Given the description of an element on the screen output the (x, y) to click on. 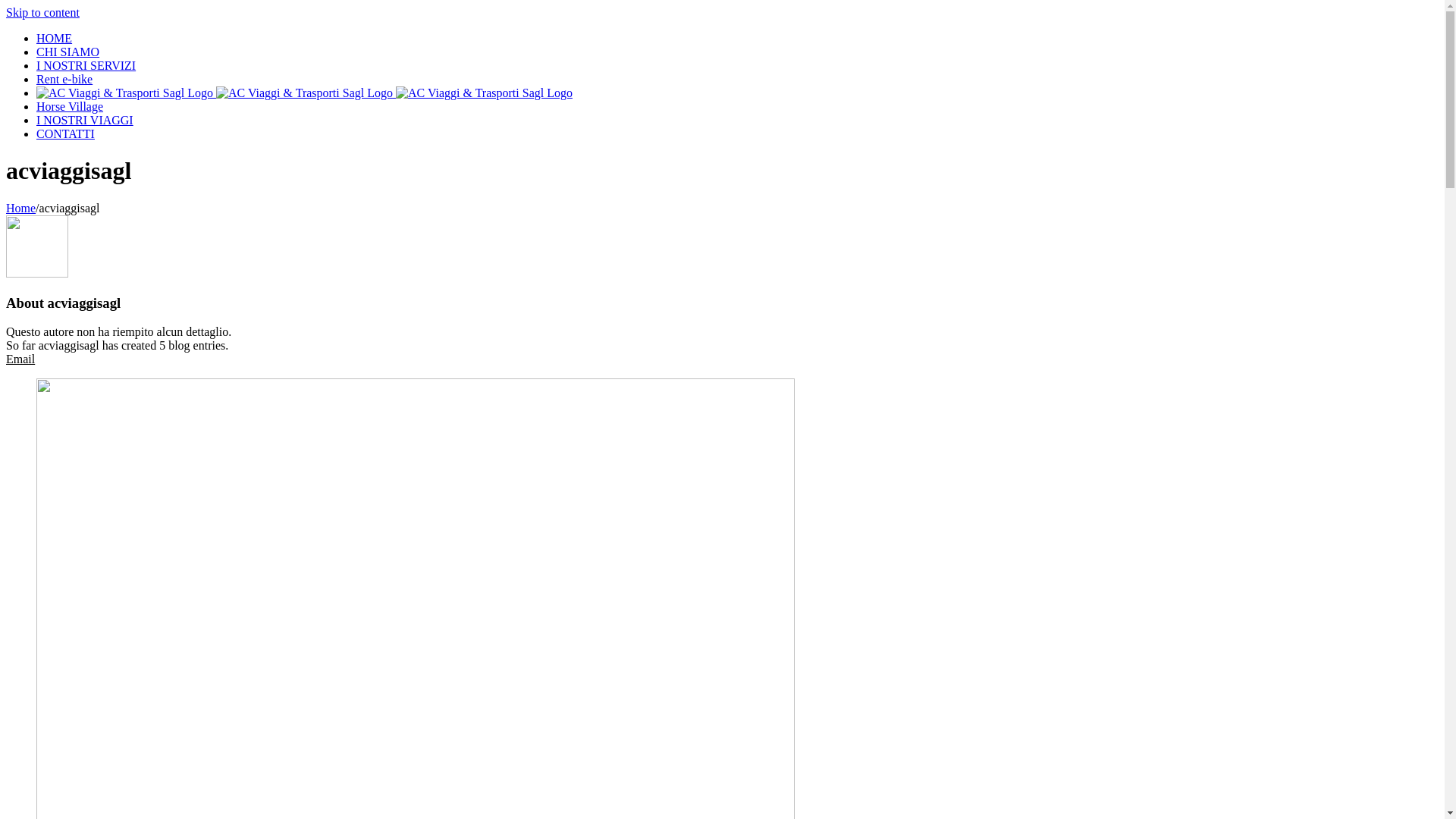
HOME Element type: text (54, 37)
Skip to content Element type: text (42, 12)
Horse Village Element type: text (69, 106)
I NOSTRI VIAGGI Element type: text (84, 119)
Home Element type: text (20, 207)
Email Element type: text (20, 358)
Rent e-bike Element type: text (64, 78)
CHI SIAMO Element type: text (67, 51)
I NOSTRI SERVIZI Element type: text (85, 65)
CONTATTI Element type: text (65, 133)
